Given the description of an element on the screen output the (x, y) to click on. 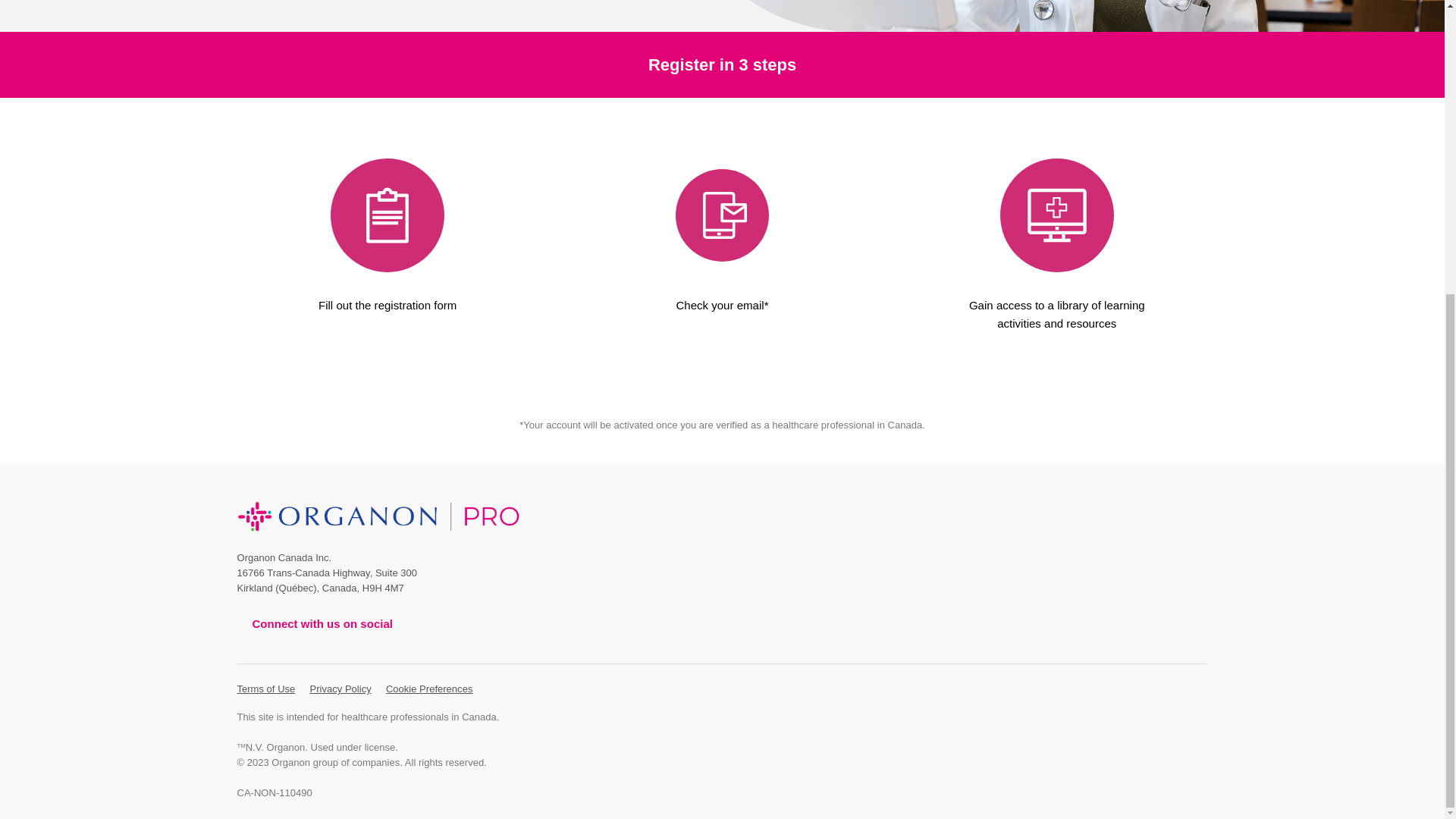
Terms of Use (265, 688)
Cookie Preferences (429, 688)
Privacy Policy (339, 688)
